Given the description of an element on the screen output the (x, y) to click on. 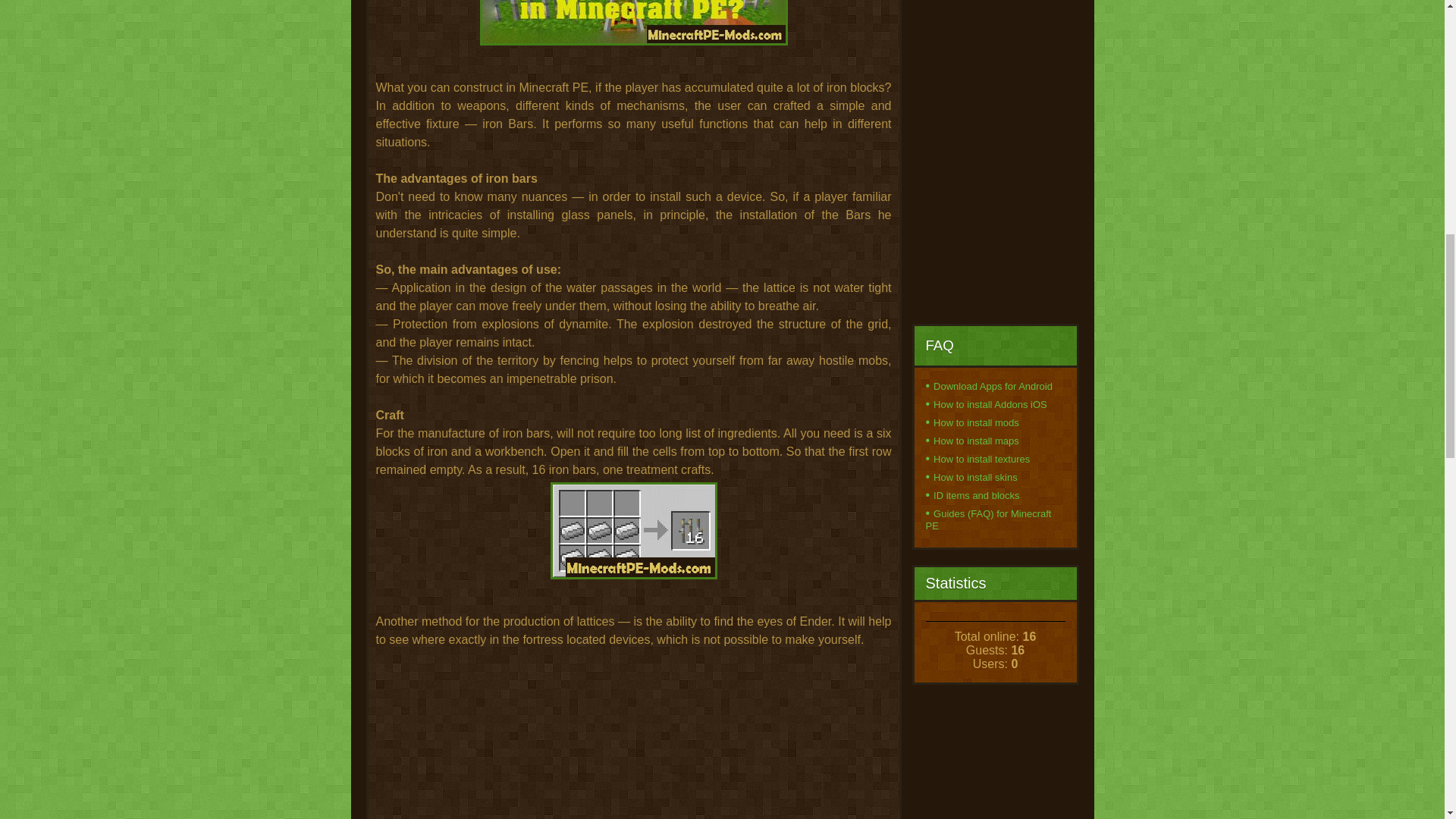
Click to view in full size... (633, 38)
